Given the description of an element on the screen output the (x, y) to click on. 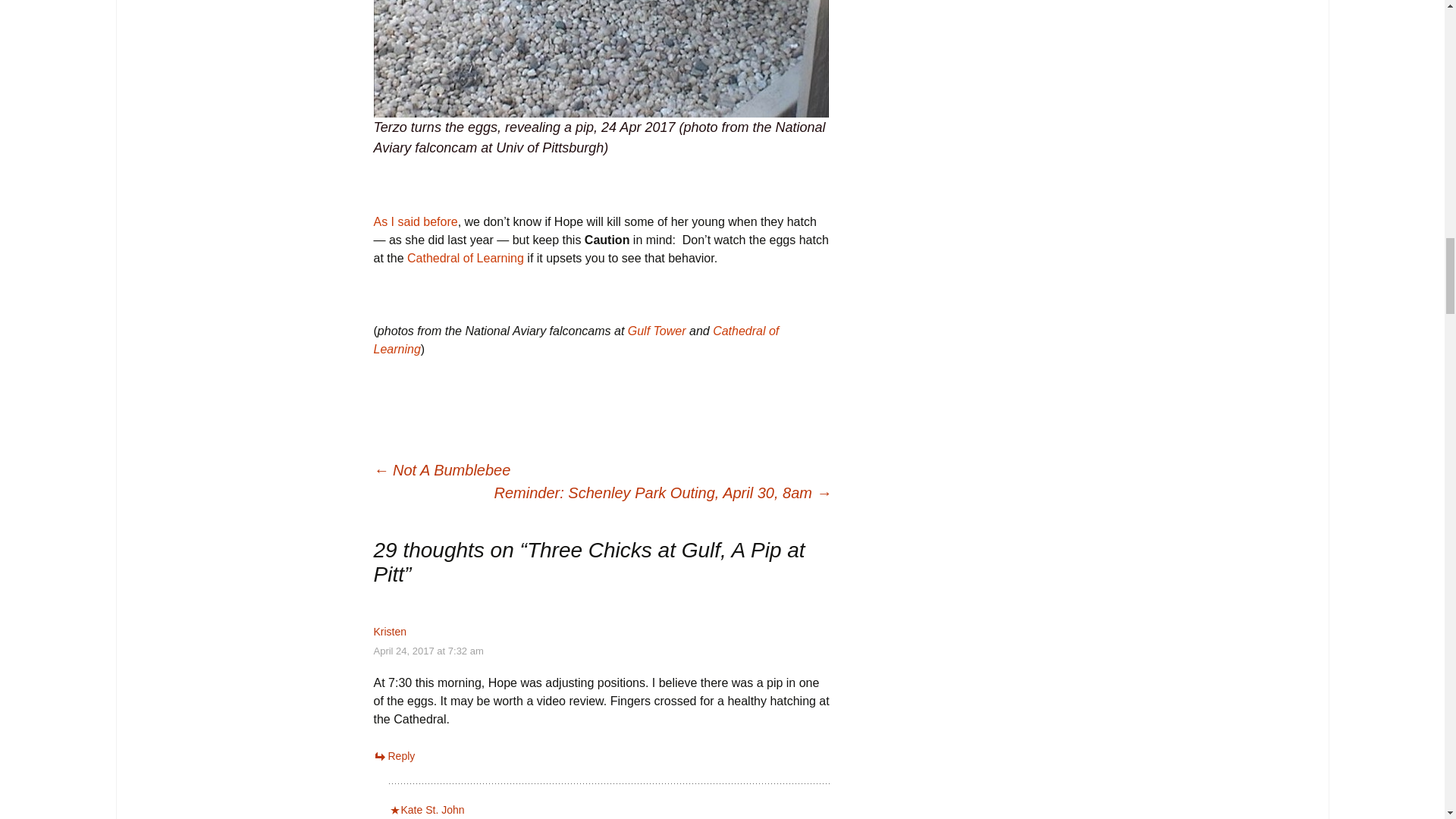
Cathedral of Learning (575, 339)
Reply (393, 756)
April 24, 2017 at 7:32 am (427, 650)
As I said before (414, 221)
Gulf Tower (656, 330)
Cathedral of Learning (465, 257)
